Given the description of an element on the screen output the (x, y) to click on. 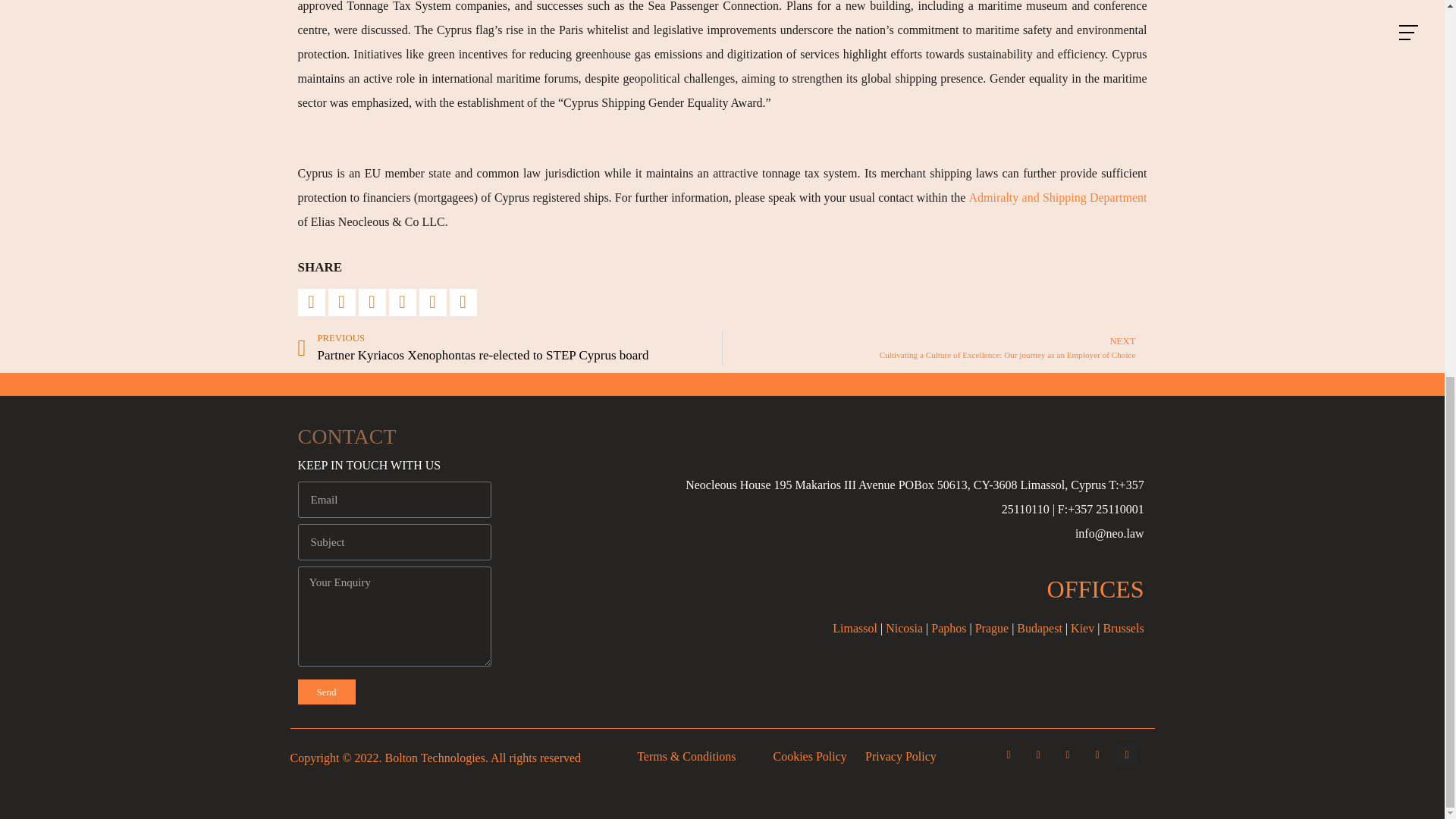
Kiev (1082, 627)
Nicosia (904, 627)
Privacy Policy (900, 756)
Budapest (1039, 627)
Limassol (854, 627)
Admiralty and Shipping Department (1058, 196)
Prague (992, 627)
Send (326, 691)
Cookies Policy (810, 756)
